Given the description of an element on the screen output the (x, y) to click on. 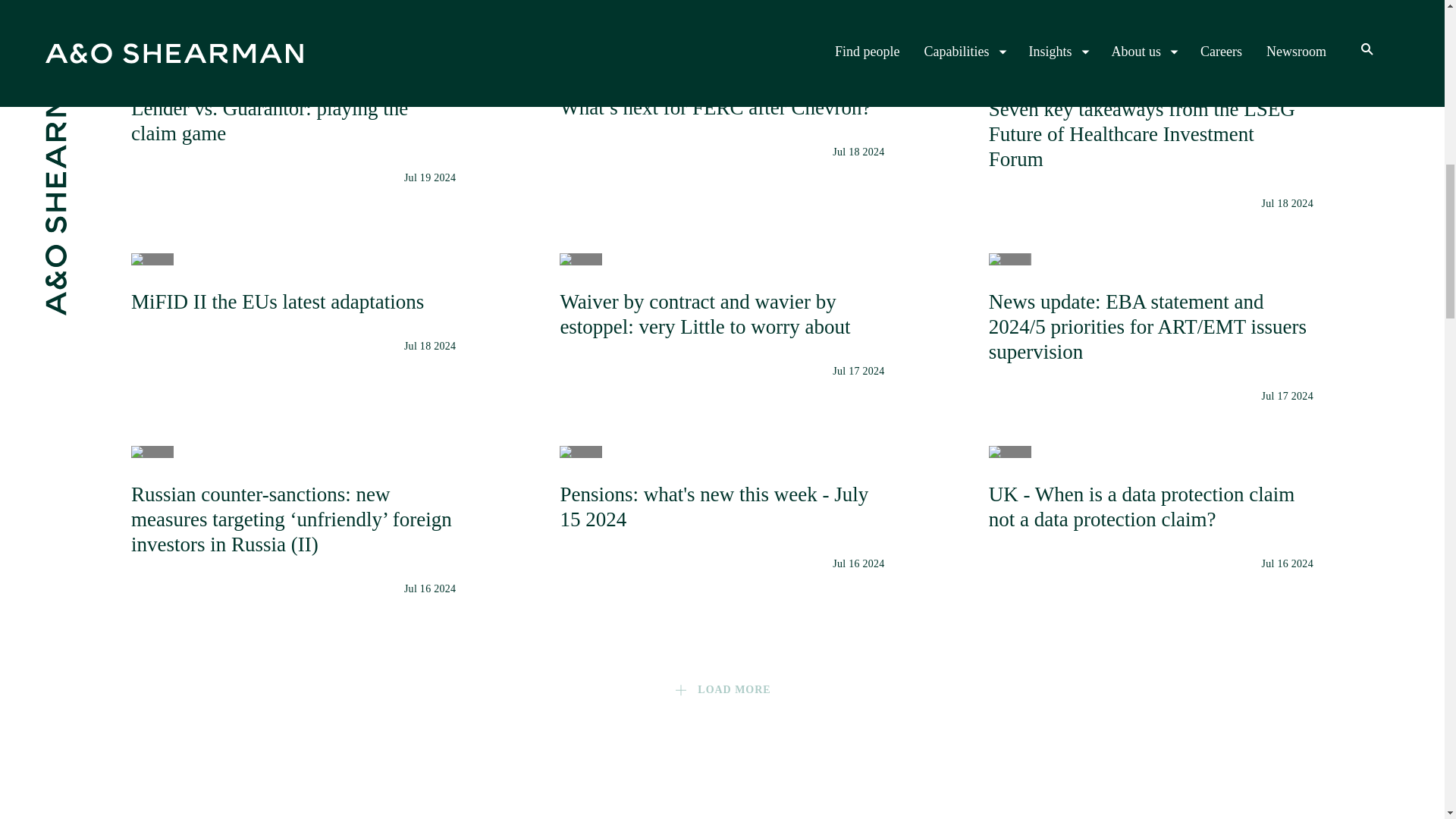
LOAD MORE (721, 507)
